Given the description of an element on the screen output the (x, y) to click on. 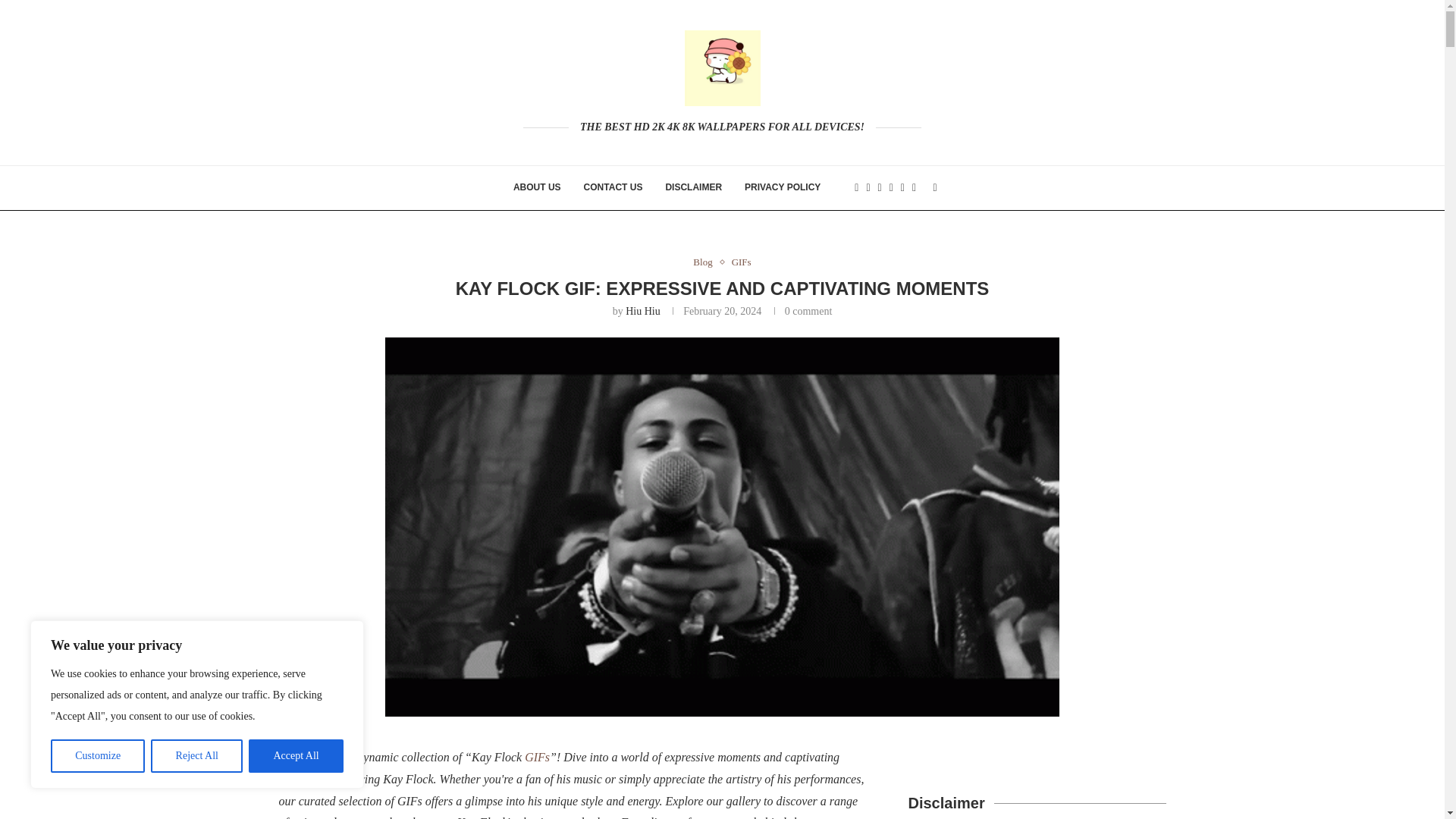
Accept All (295, 756)
CONTACT US (612, 187)
Reject All (197, 756)
GIFs (537, 757)
Blog (706, 262)
Hiu Hiu (643, 310)
GIFs (741, 262)
ABOUT US (537, 187)
PRIVACY POLICY (782, 187)
